Given the description of an element on the screen output the (x, y) to click on. 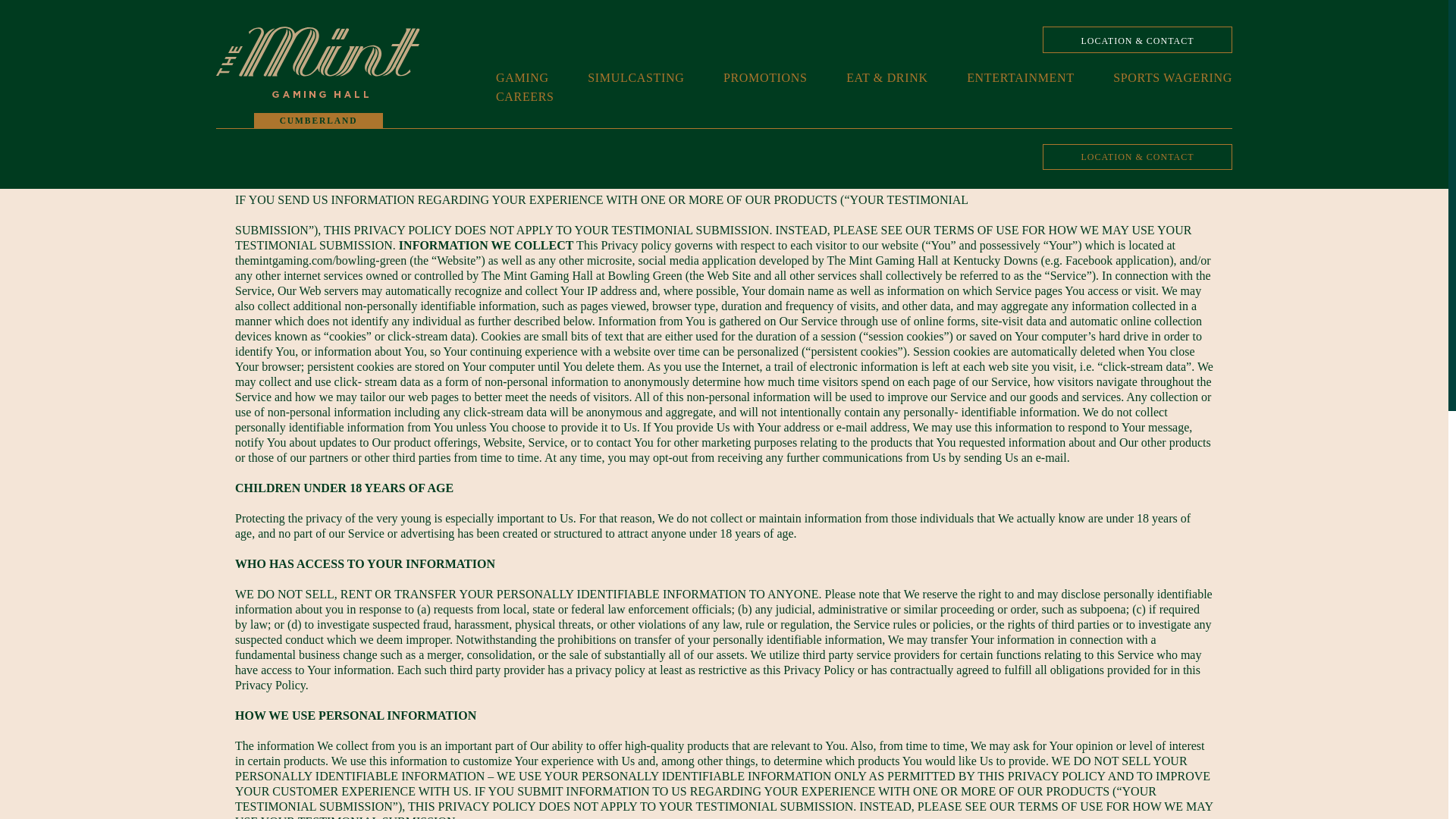
GAMING (522, 78)
SIMULCASTING (636, 78)
PROMOTIONS (765, 78)
CUMBERLAND (317, 90)
ENTERTAINMENT (1020, 78)
CAREERS (525, 98)
SPORTS WAGERING (1172, 78)
